Given the description of an element on the screen output the (x, y) to click on. 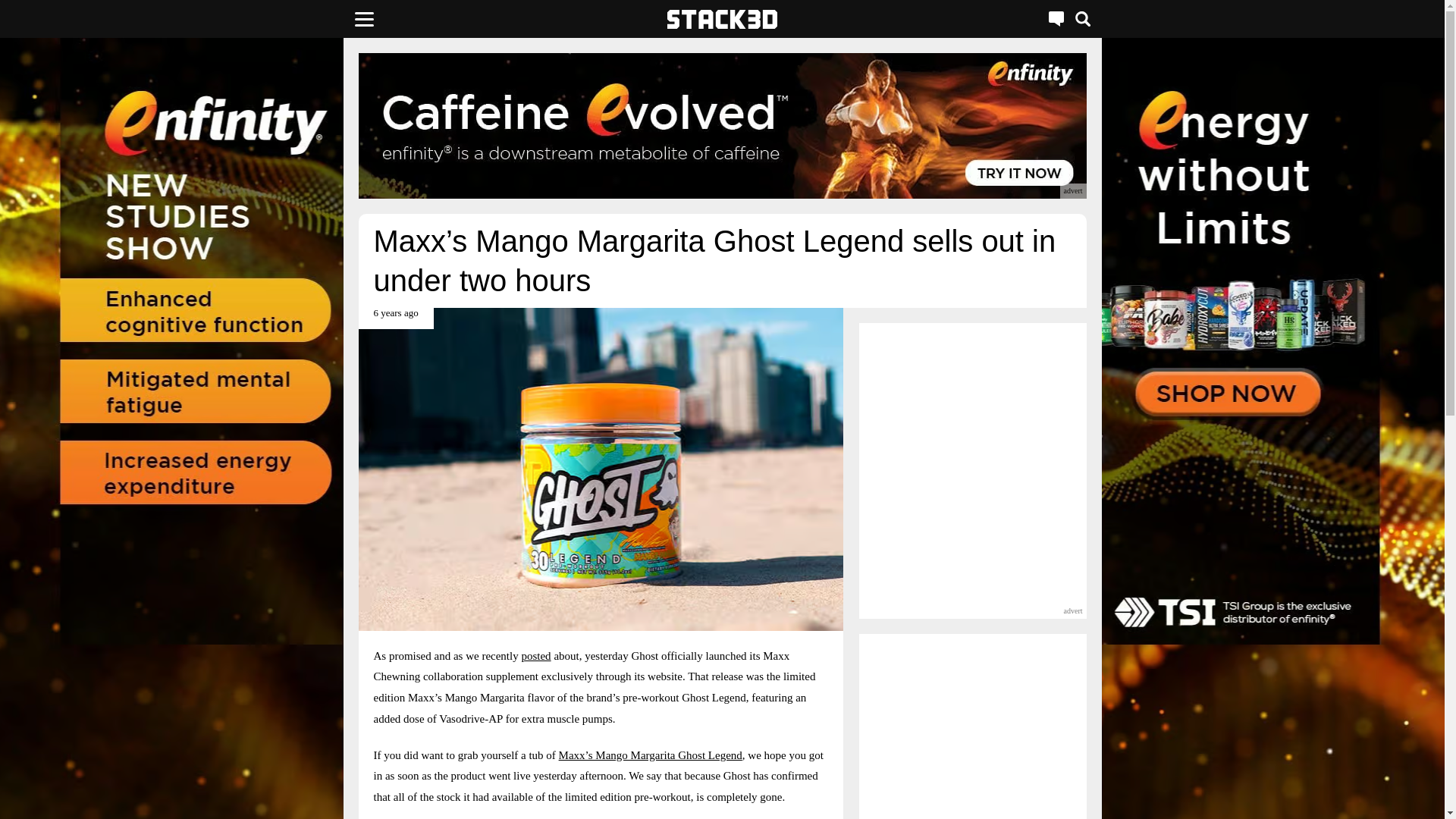
posted (535, 655)
March 23rd 2018 (395, 318)
